Given the description of an element on the screen output the (x, y) to click on. 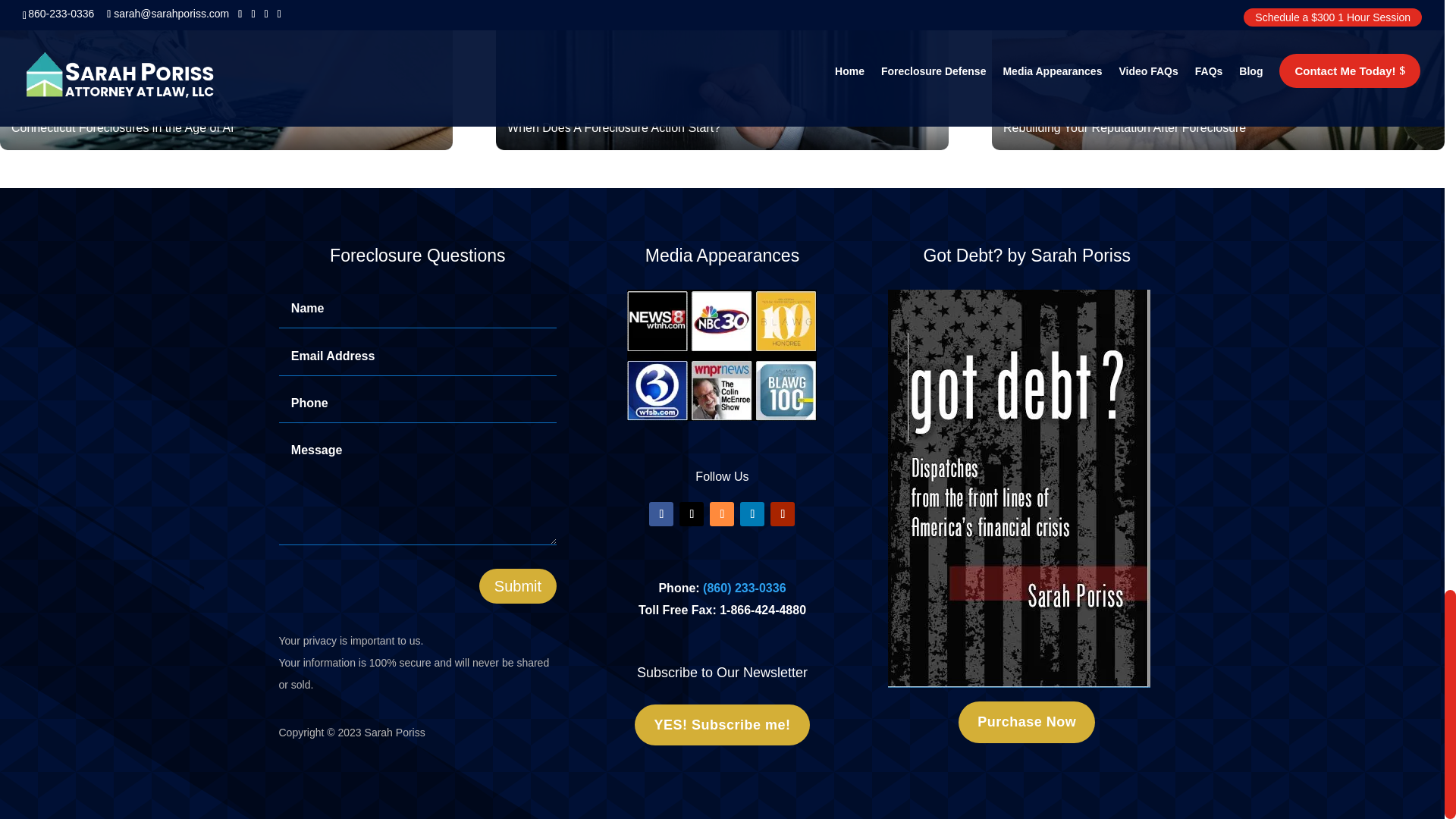
Submit (517, 585)
Connecticut Foreclosures in the Age of AI (226, 74)
When Does A Foreclosure Action Start? (722, 74)
Connecticut Foreclosures in the Age of AI (226, 74)
Follow on LinkedIn (751, 514)
Follow on X (691, 514)
When Does A Foreclosure Action Start? (722, 74)
media (721, 354)
Follow on Youtube (782, 514)
Follow on RSS (721, 514)
